Given the description of an element on the screen output the (x, y) to click on. 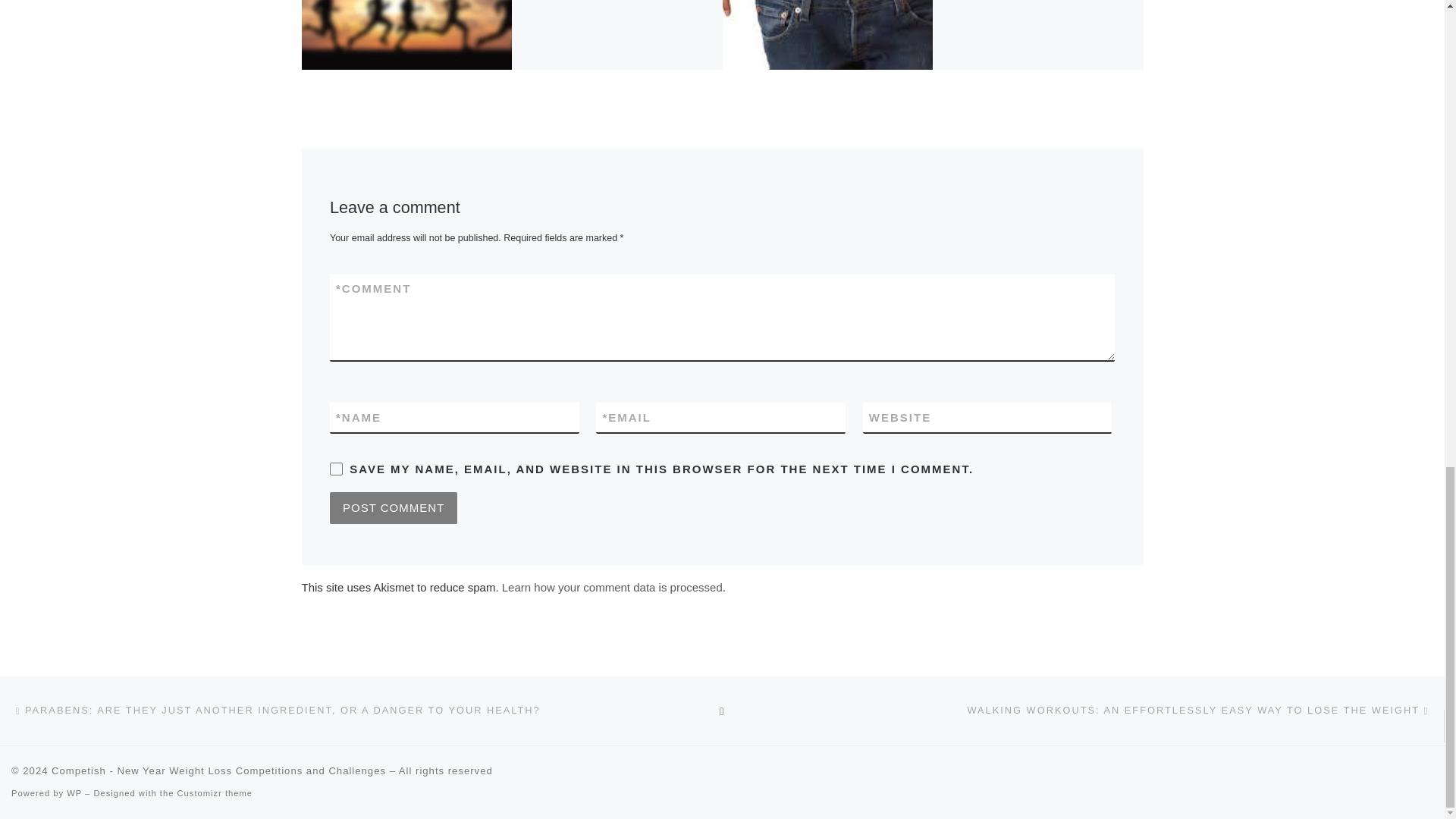
Competish - New Year Weight Loss Competitions and Challenges (217, 770)
Post Comment (393, 508)
yes (336, 468)
Post Comment (393, 508)
